Given the description of an element on the screen output the (x, y) to click on. 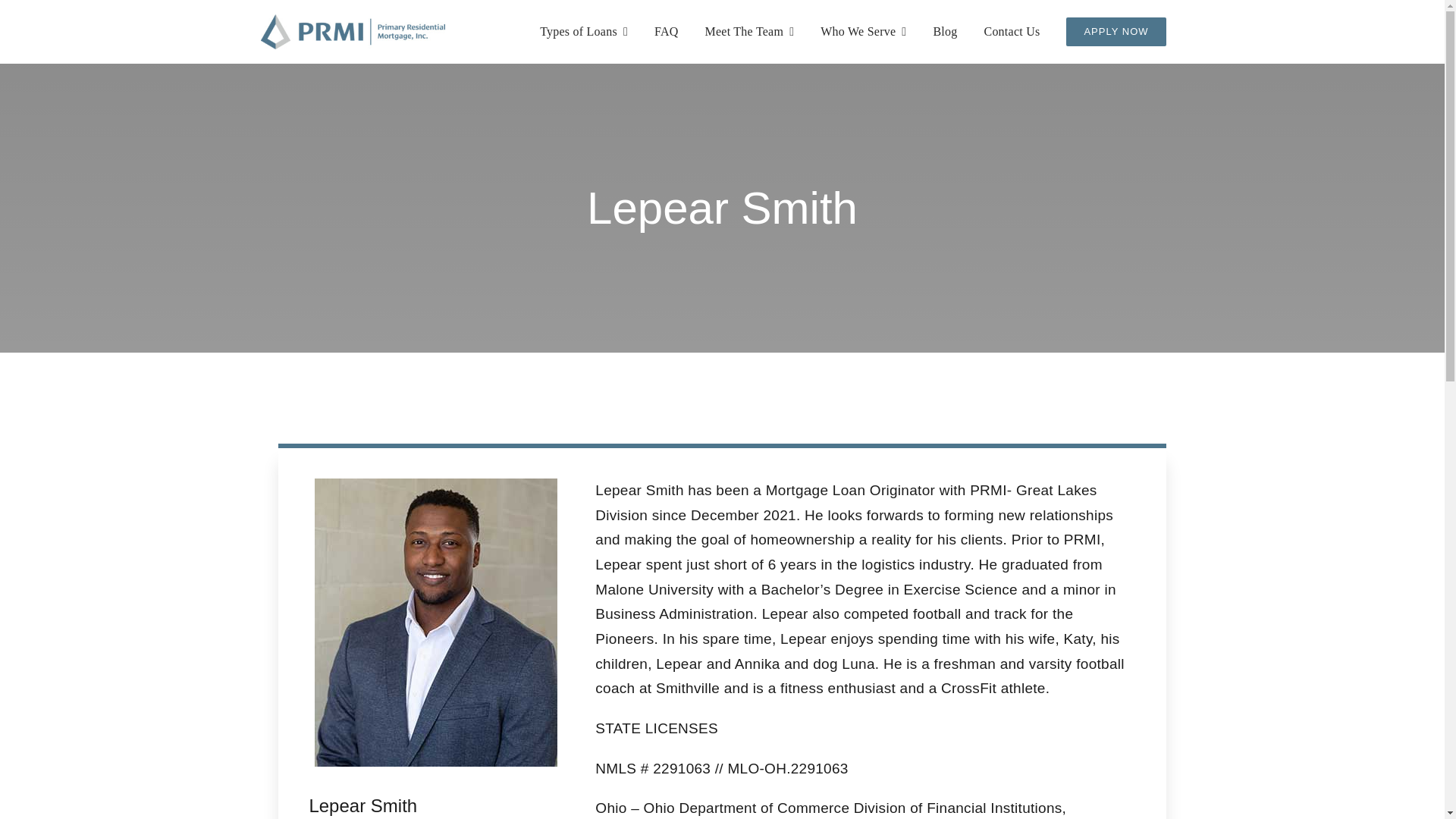
APPLY NOW (1115, 31)
Meet The Team (749, 31)
Contact Us (1011, 31)
Who We Serve (863, 31)
Types of Loans (583, 31)
